Given the description of an element on the screen output the (x, y) to click on. 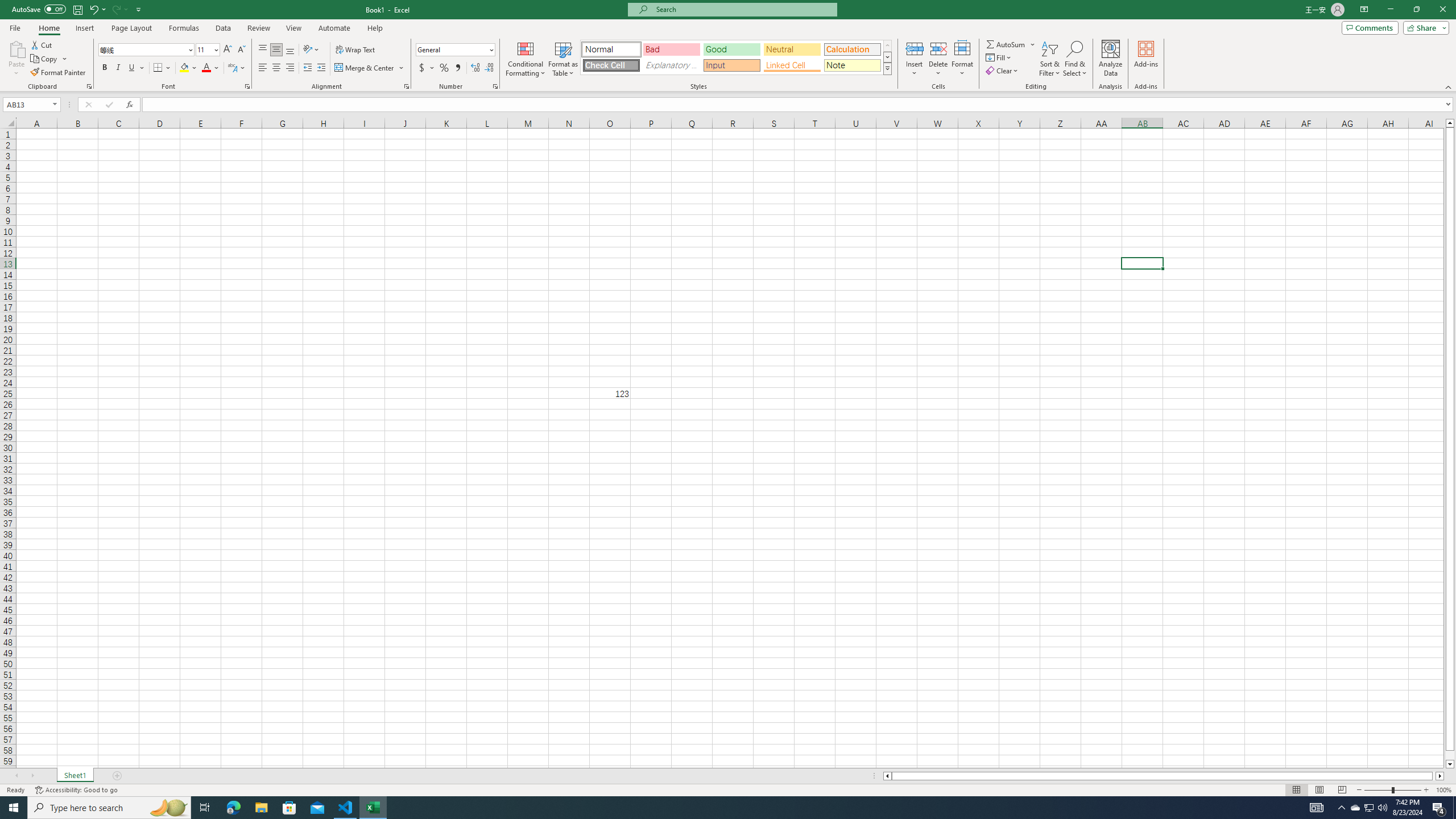
Paste (16, 58)
File Tab (15, 27)
Accounting Number Format (422, 67)
Page right (1433, 775)
Copy (45, 58)
Sort & Filter (1049, 58)
Font (147, 49)
Decrease Decimal (489, 67)
Microsoft search (742, 9)
Insert (83, 28)
Column right (1440, 775)
Bottom Align (290, 49)
Format (962, 58)
